Given the description of an element on the screen output the (x, y) to click on. 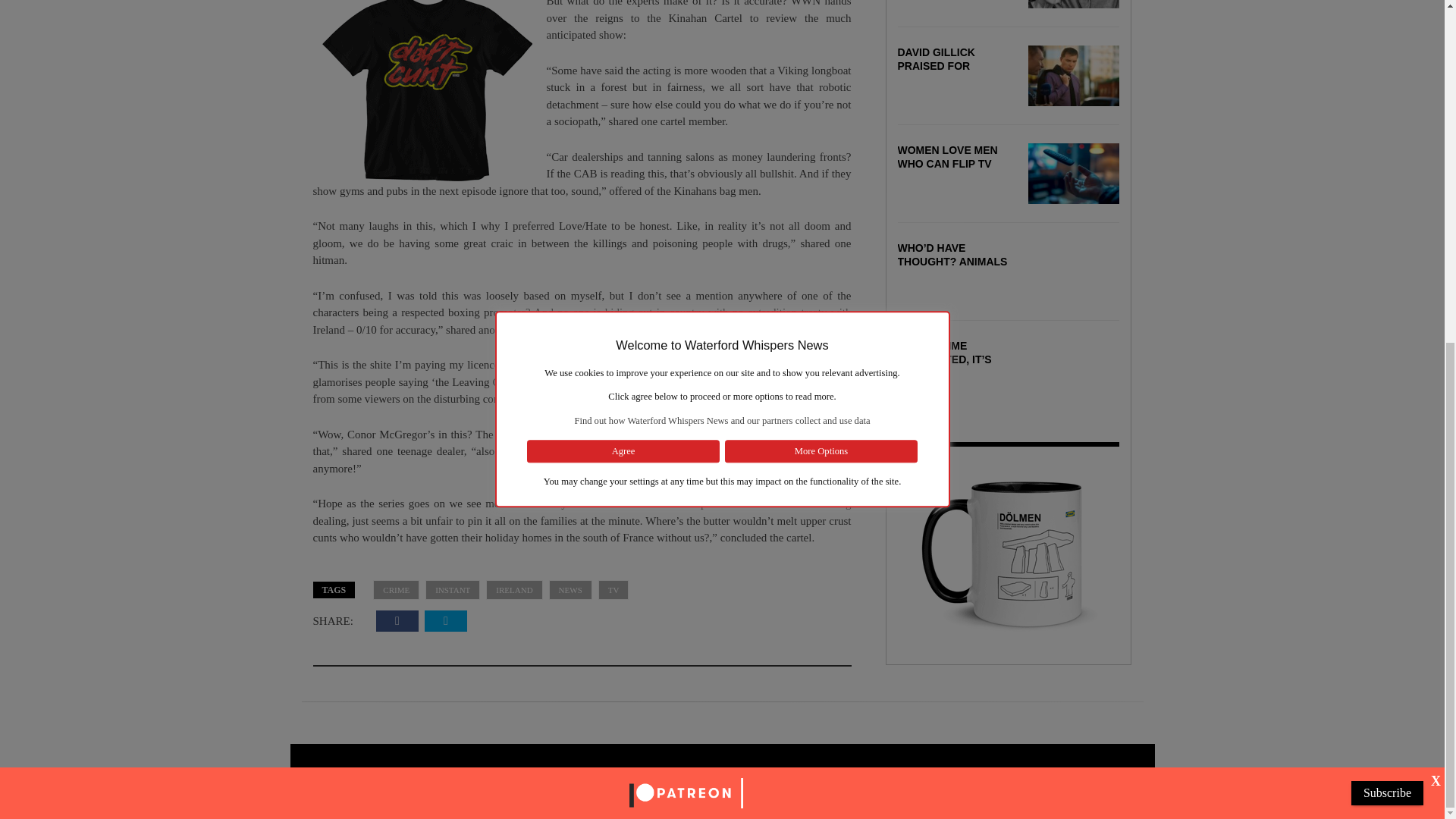
View all posts tagged instant (452, 589)
View all posts tagged tv (613, 589)
View all posts tagged news (570, 589)
View all posts tagged ireland (513, 589)
Support us on Patreon (685, 206)
View all posts tagged crime (395, 589)
